Given the description of an element on the screen output the (x, y) to click on. 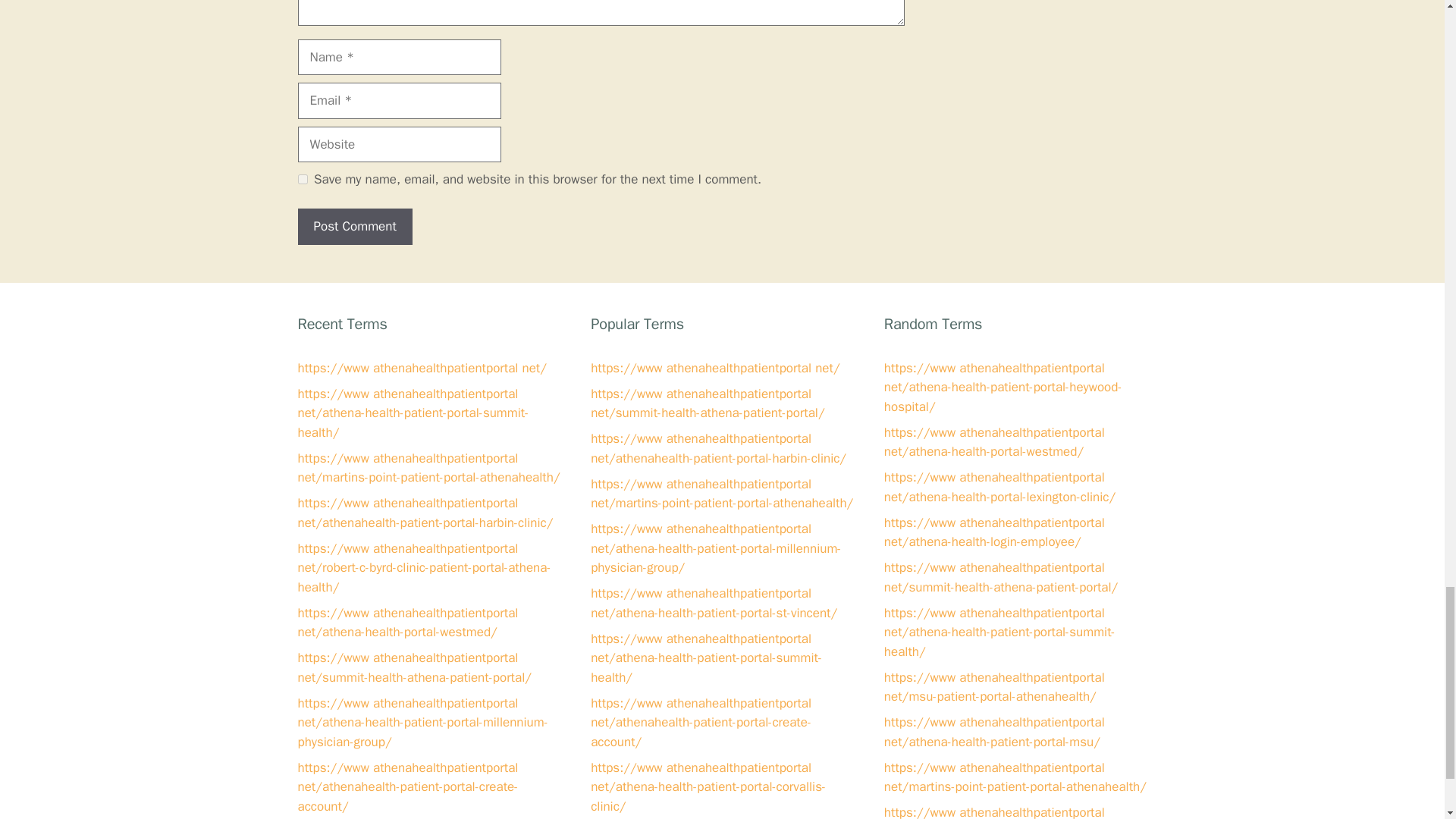
Post Comment (354, 226)
Post Comment (354, 226)
yes (302, 179)
